Given the description of an element on the screen output the (x, y) to click on. 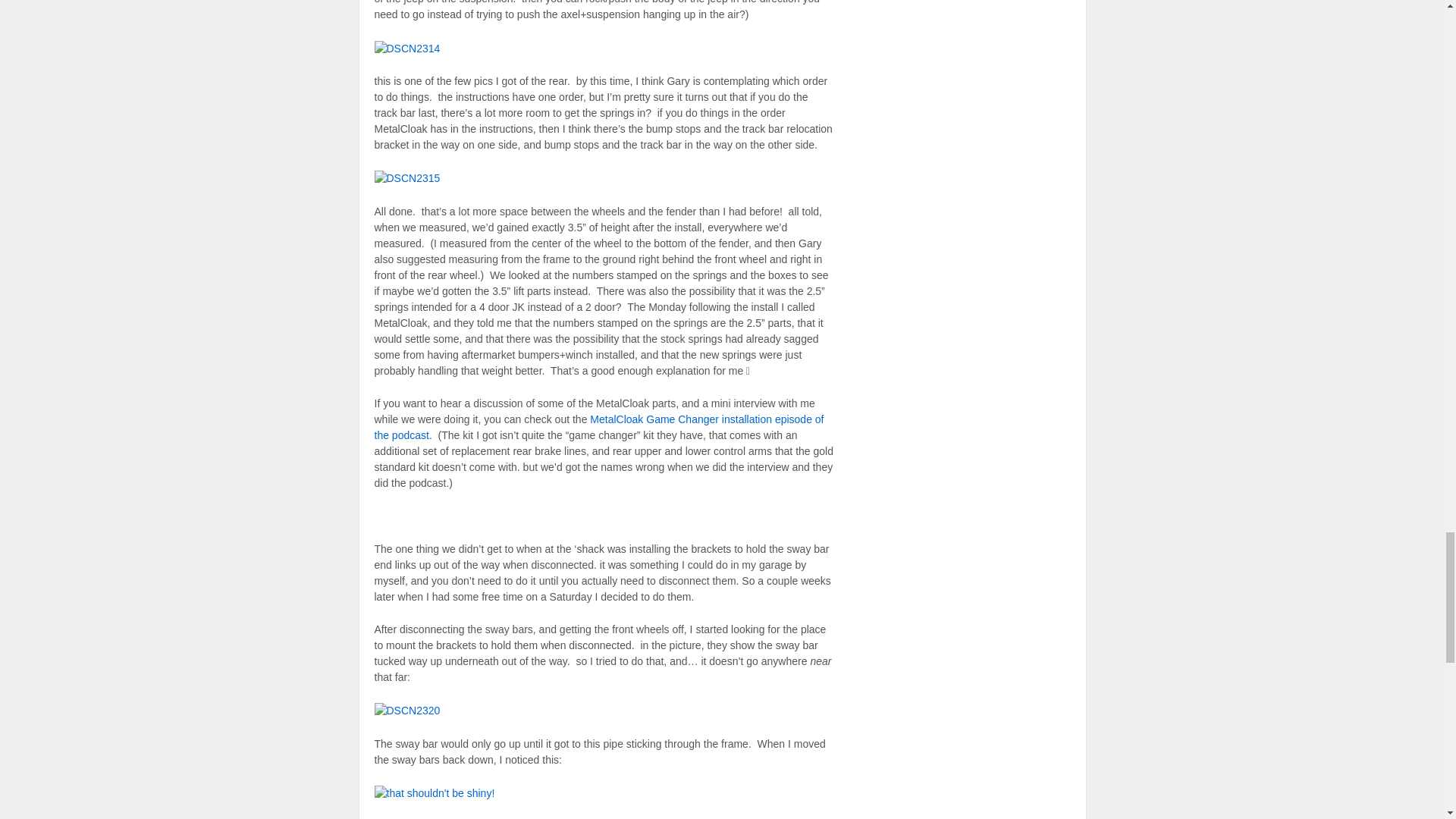
DSCN2320 (407, 710)
MetalCloak Game Changer installation episode of the podcast (599, 427)
that shouldn't be shiny! (434, 792)
DSCN2315 (407, 177)
DSCN2314 (407, 47)
